Given the description of an element on the screen output the (x, y) to click on. 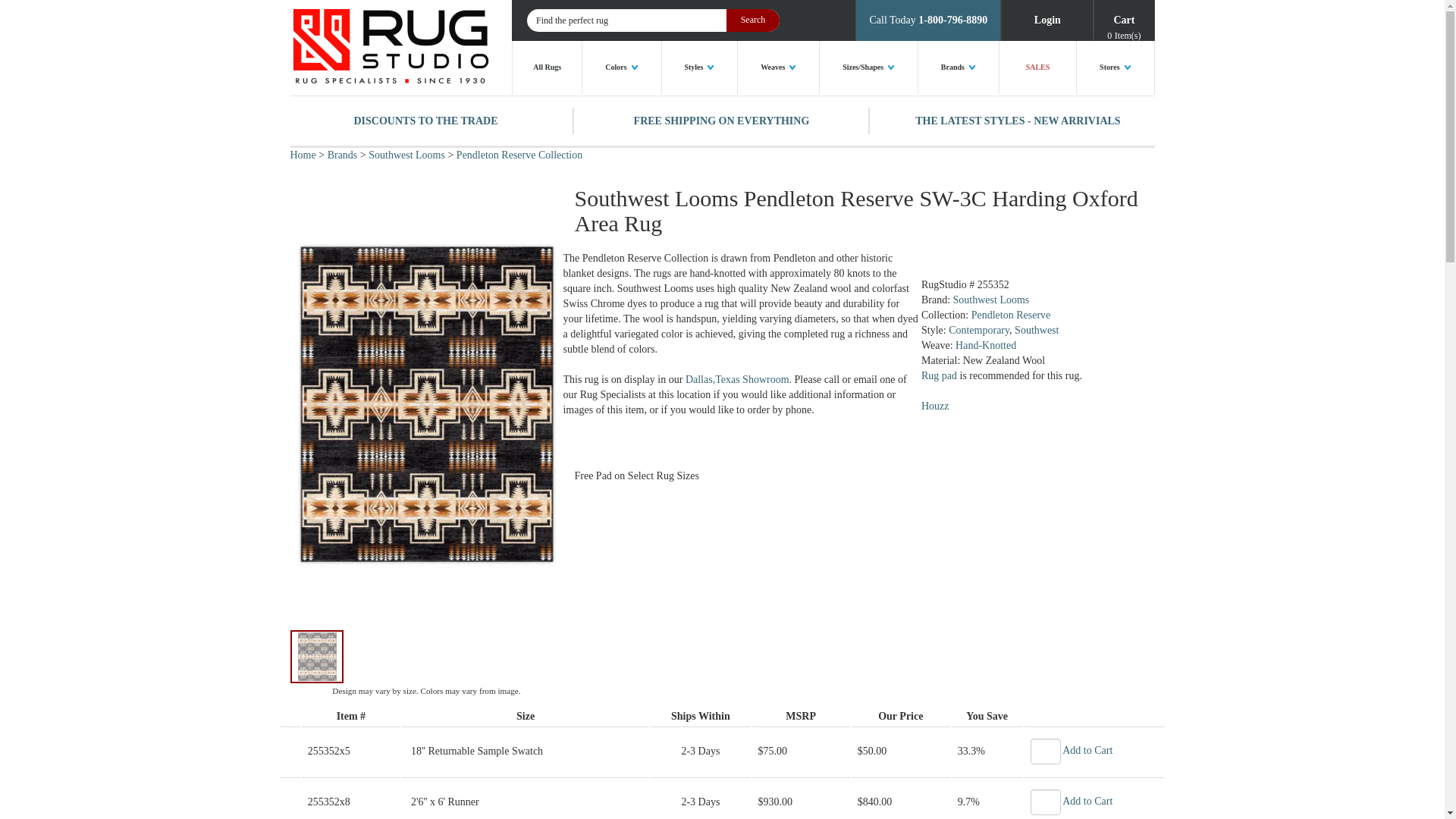
Primitive or Southwest Style rugs (1036, 329)
Search (752, 20)
1-800-796-8890 (952, 19)
Styles (700, 67)
Southwest Looms Pendleton Reserve Collection (1011, 315)
Search (752, 20)
Southwest Looms Pendleton Reserve Collection (519, 154)
Brands (958, 67)
Search (752, 20)
